Given the description of an element on the screen output the (x, y) to click on. 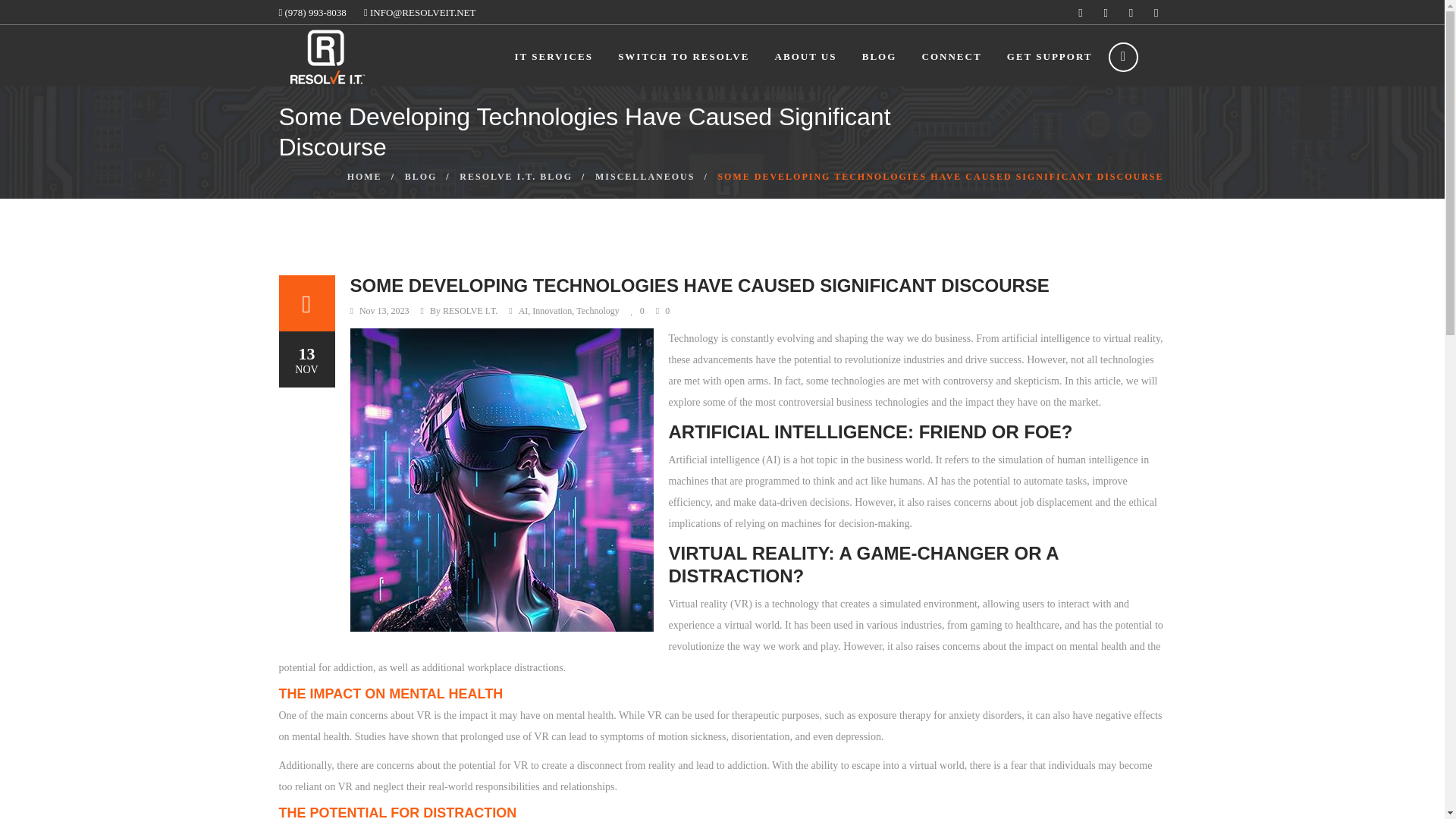
By RESOLVE I.T. (463, 311)
CONNECT (951, 56)
BLOG (878, 56)
IT SERVICES (553, 56)
ABOUT US (805, 56)
RESOLVE I.T. BLOG (516, 176)
BLOG (421, 176)
HOME (364, 176)
GET SUPPORT (1050, 56)
MISCELLANEOUS (644, 176)
